Given the description of an element on the screen output the (x, y) to click on. 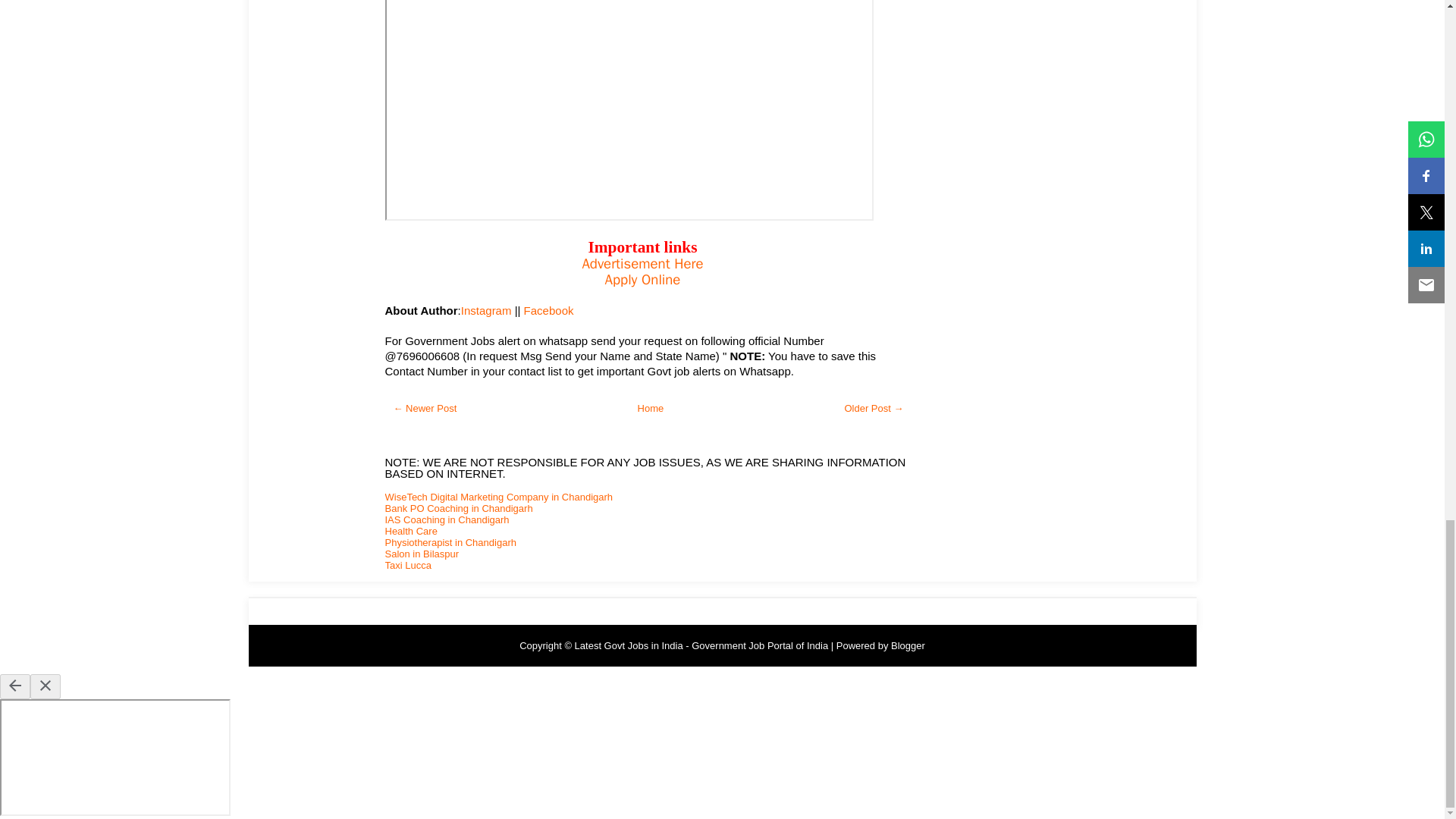
Older Post (873, 408)
Newer Post (425, 408)
